Given the description of an element on the screen output the (x, y) to click on. 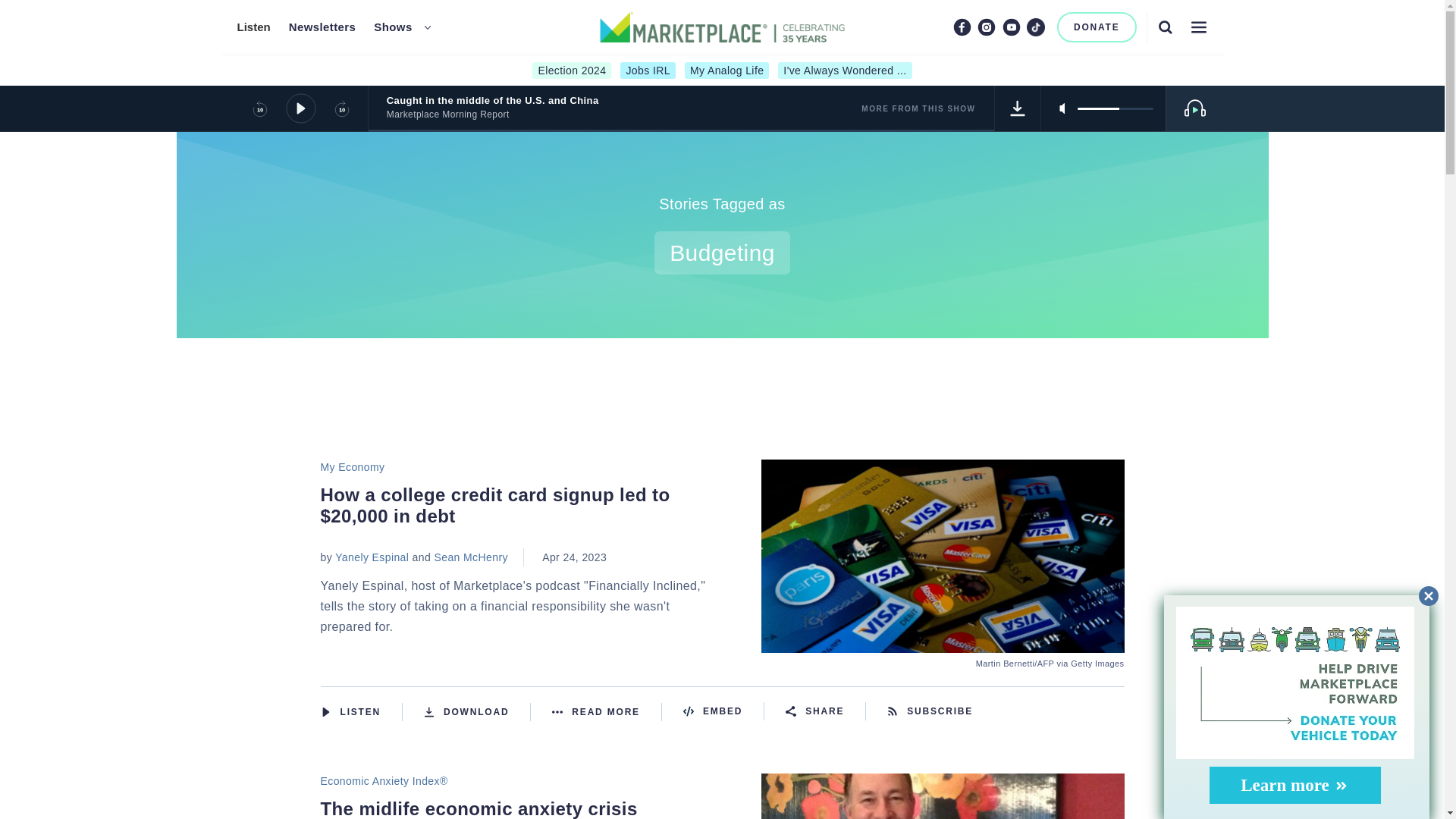
TikTok (1035, 27)
5 (1115, 108)
Download (477, 711)
Listen (252, 26)
Search (1164, 27)
Skip 10 Seconds (341, 108)
Facebook (962, 27)
Newsletters (322, 27)
Read More (606, 711)
Playback 10 Seconds (259, 108)
Instagram (985, 27)
LISTEN (325, 711)
Listen Now (360, 711)
Menu (1198, 27)
